Given the description of an element on the screen output the (x, y) to click on. 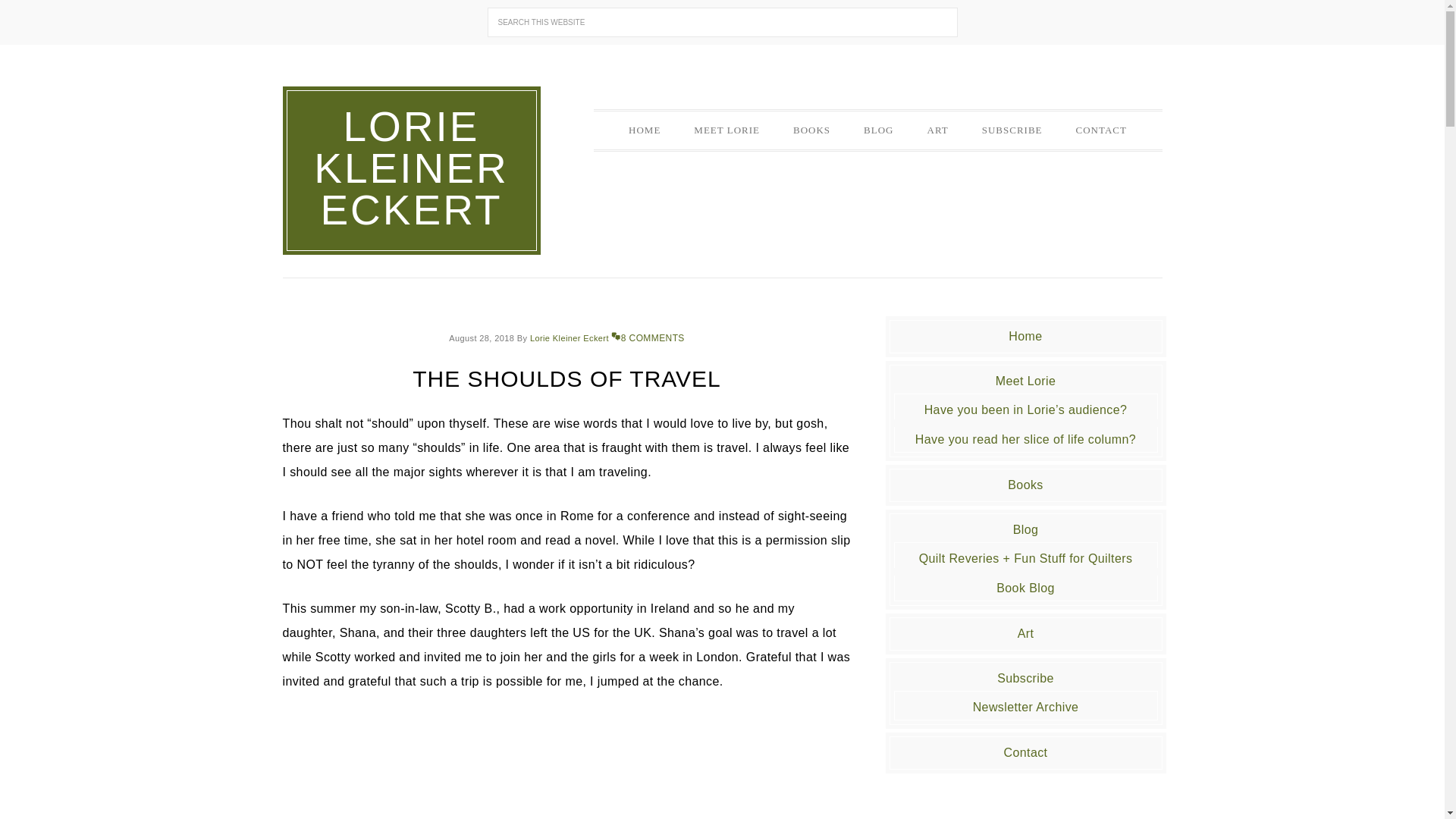
SUBSCRIBE (1012, 130)
CONTACT (1100, 130)
MEET LORIE (726, 130)
BOOKS (811, 130)
Lorie Kleiner Eckert (568, 338)
8 COMMENTS (647, 337)
LORIE KLEINER ECKERT (410, 168)
ART (936, 130)
